Given the description of an element on the screen output the (x, y) to click on. 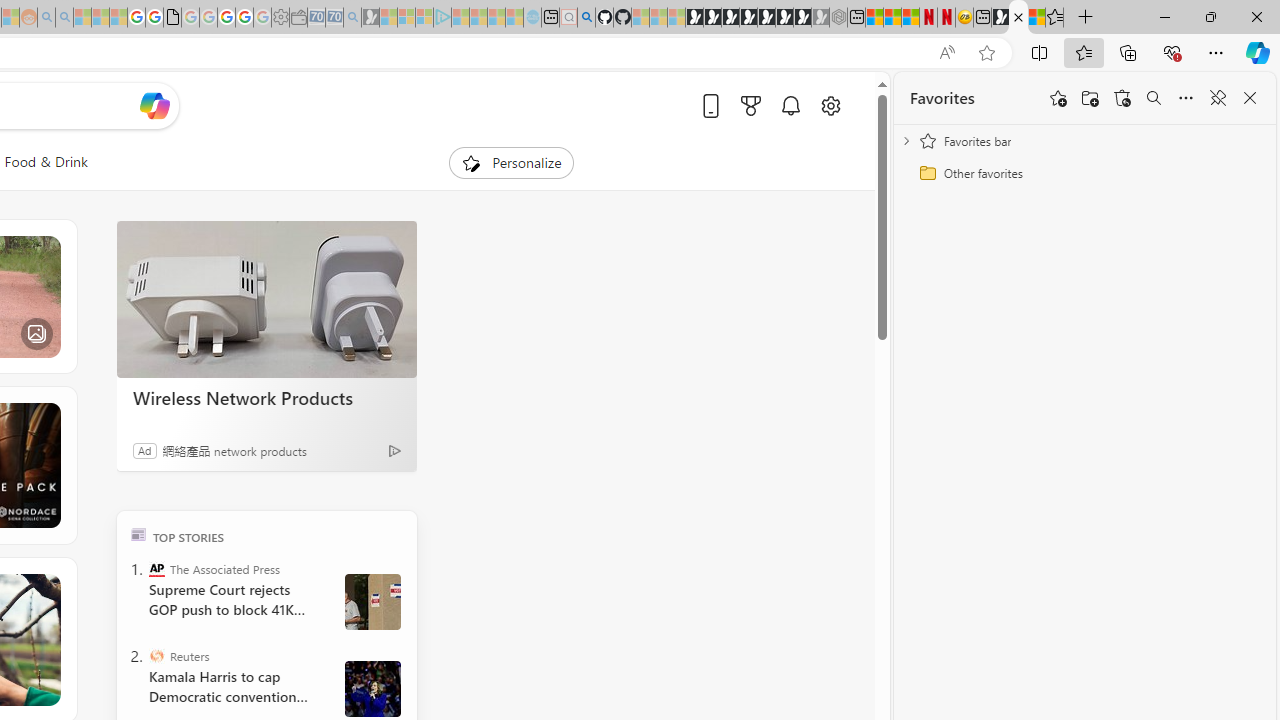
Search favorites (1153, 98)
Unpin favorites (1217, 98)
Reuters (156, 655)
